Given the description of an element on the screen output the (x, y) to click on. 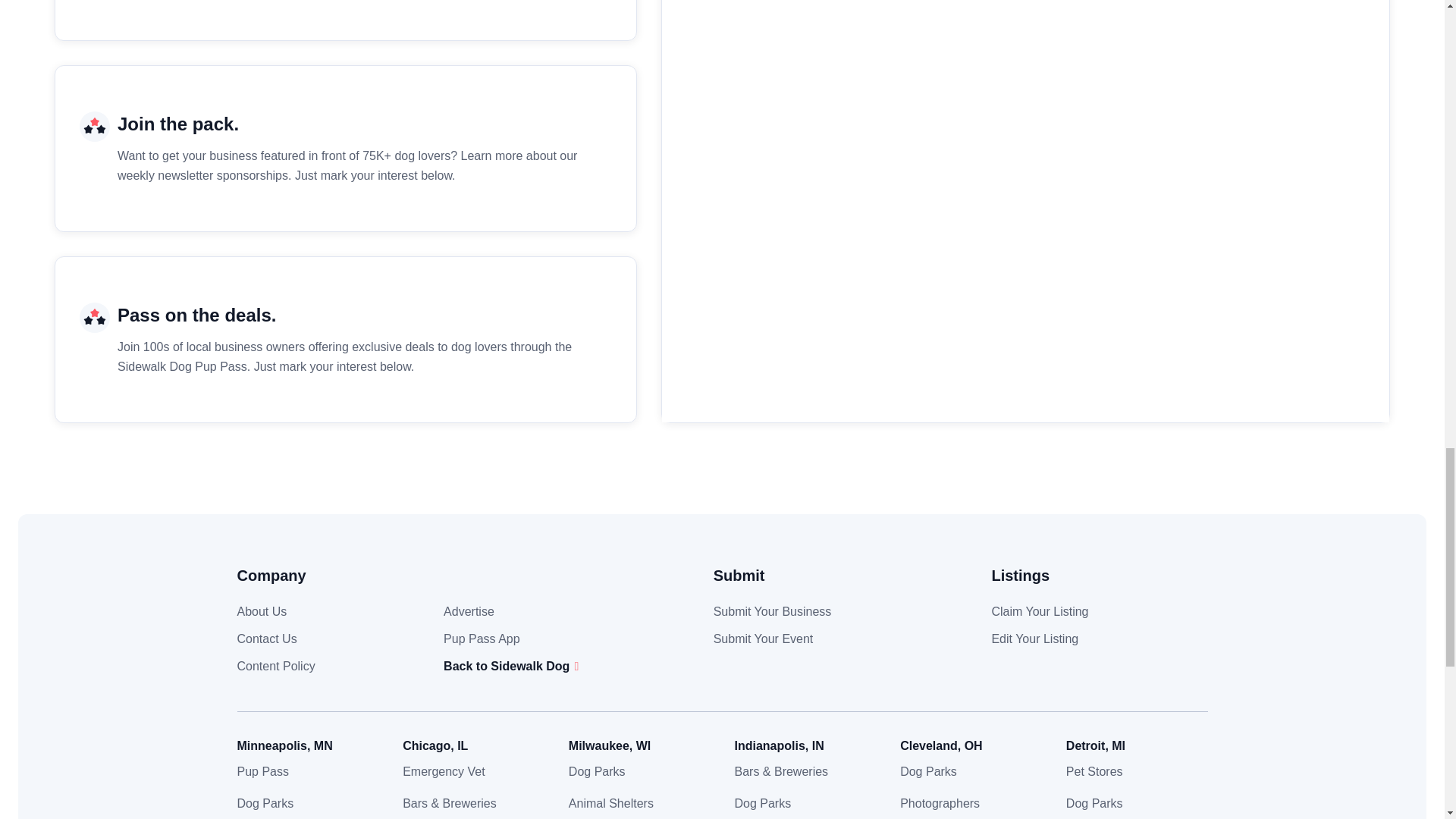
Contact Us (266, 638)
Advertise (469, 611)
Pup Pass App (481, 638)
Submit Your Business (772, 611)
About Us (260, 611)
Content Policy (274, 666)
